Given the description of an element on the screen output the (x, y) to click on. 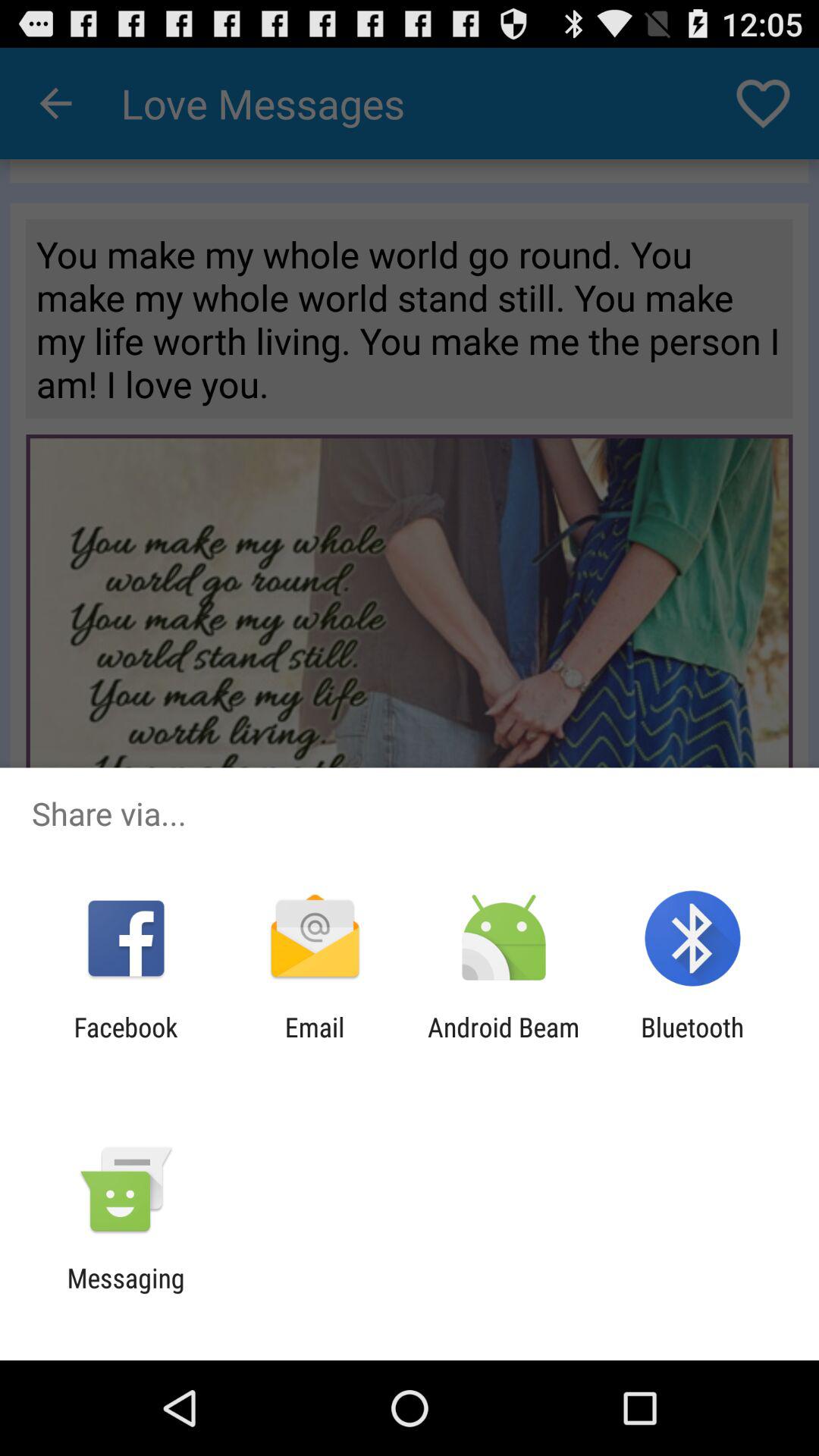
press app to the left of the email icon (125, 1042)
